Given the description of an element on the screen output the (x, y) to click on. 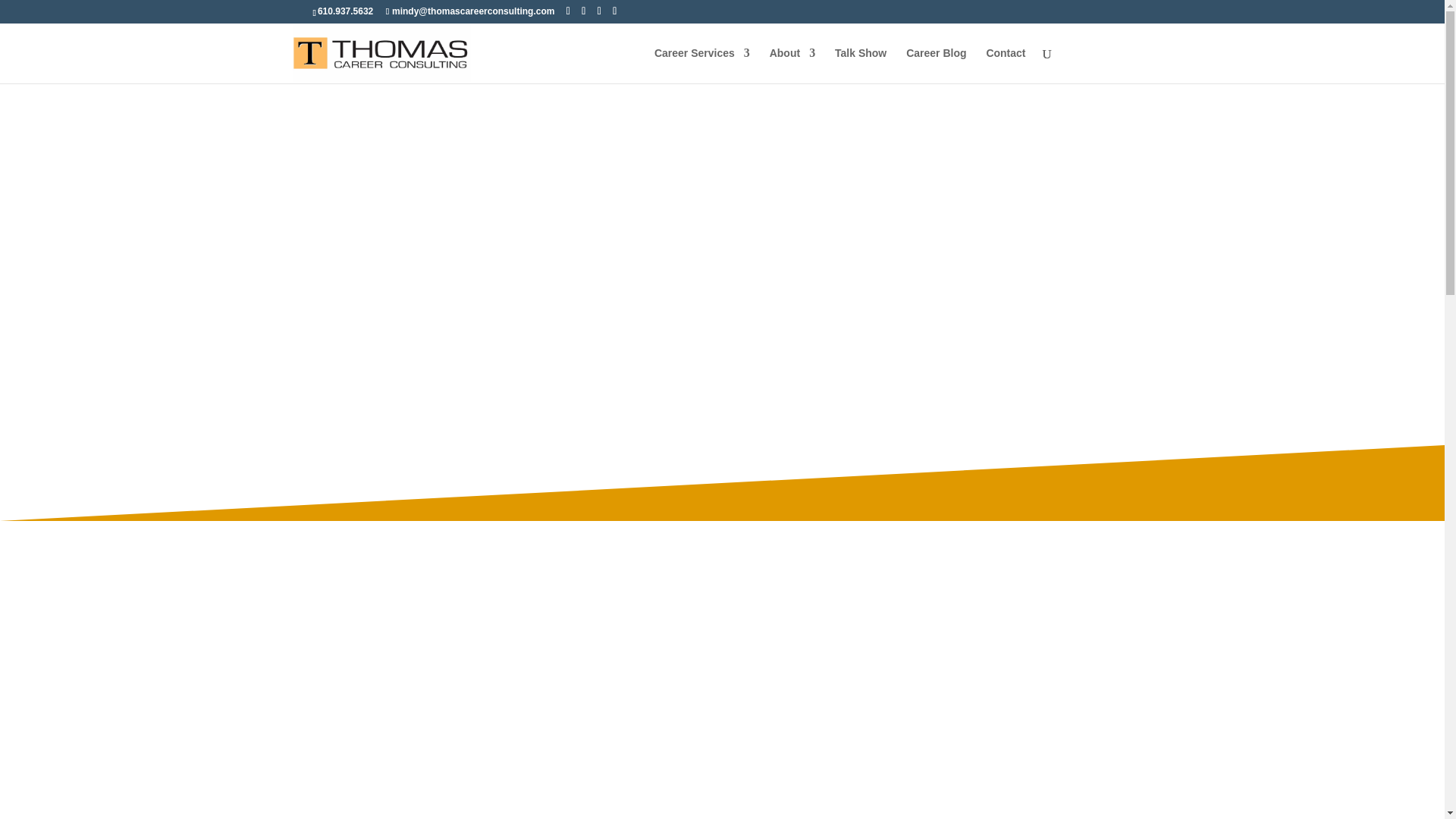
Contact (1005, 65)
610.937.5632 (344, 10)
Career Services (701, 65)
Career Blog (935, 65)
About (792, 65)
Talk Show (860, 65)
